Given the description of an element on the screen output the (x, y) to click on. 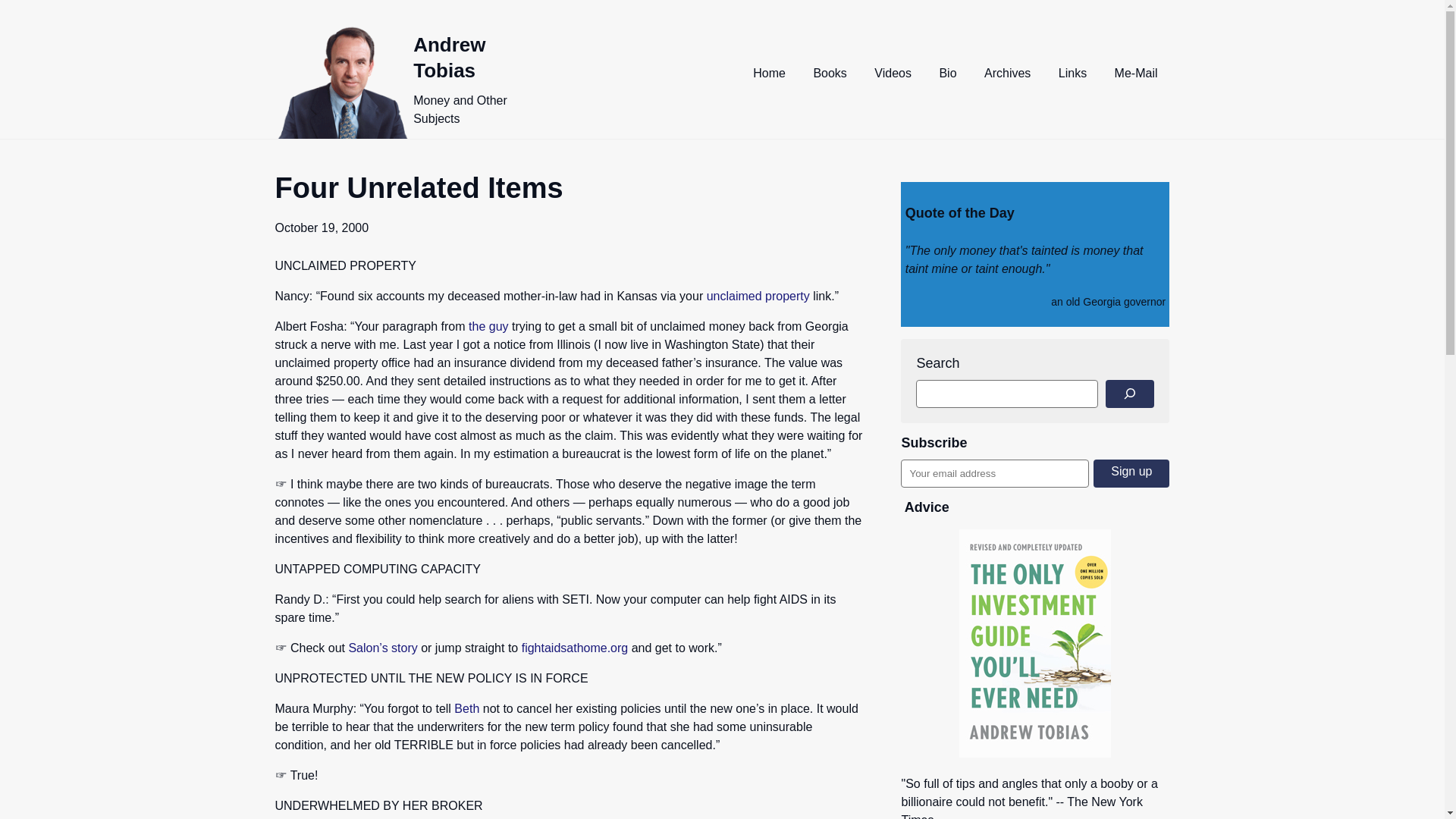
Home (769, 73)
Archives (1007, 73)
Me-Mail (1136, 73)
Books (829, 73)
Sign up (1131, 473)
Links (1072, 73)
Sign up (1131, 473)
the guy (488, 326)
fightaidsathome.org (574, 647)
Beth (466, 707)
